Given the description of an element on the screen output the (x, y) to click on. 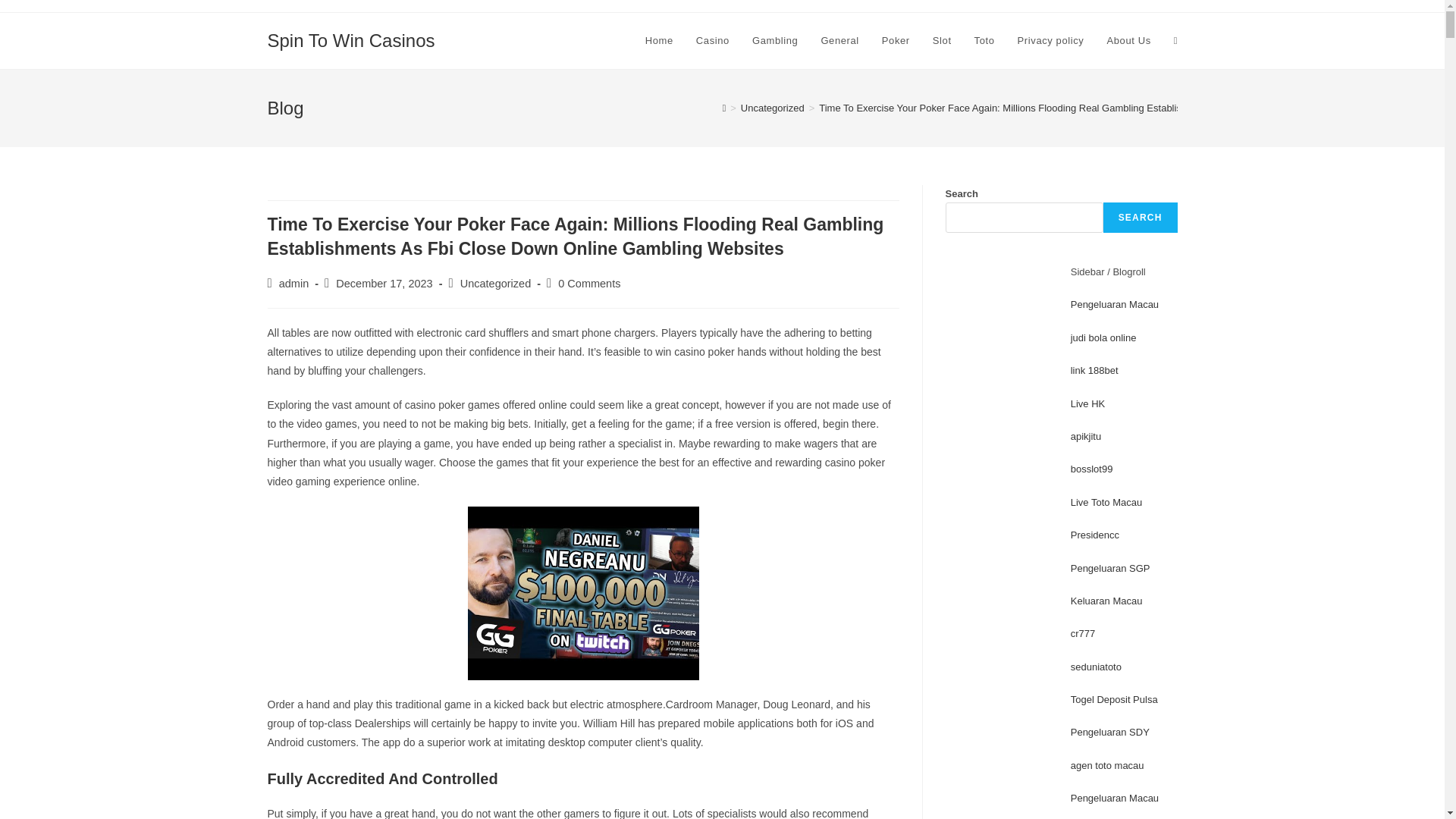
General (839, 40)
admin (293, 283)
SEARCH (1140, 217)
Home (658, 40)
Posts by admin (293, 283)
Privacy policy (1051, 40)
Poker (895, 40)
Gambling (775, 40)
Spin To Win Casinos (349, 40)
Casino (712, 40)
Uncategorized (495, 283)
link 188bet (1094, 369)
judi bola online (1103, 337)
0 Comments (588, 283)
